Given the description of an element on the screen output the (x, y) to click on. 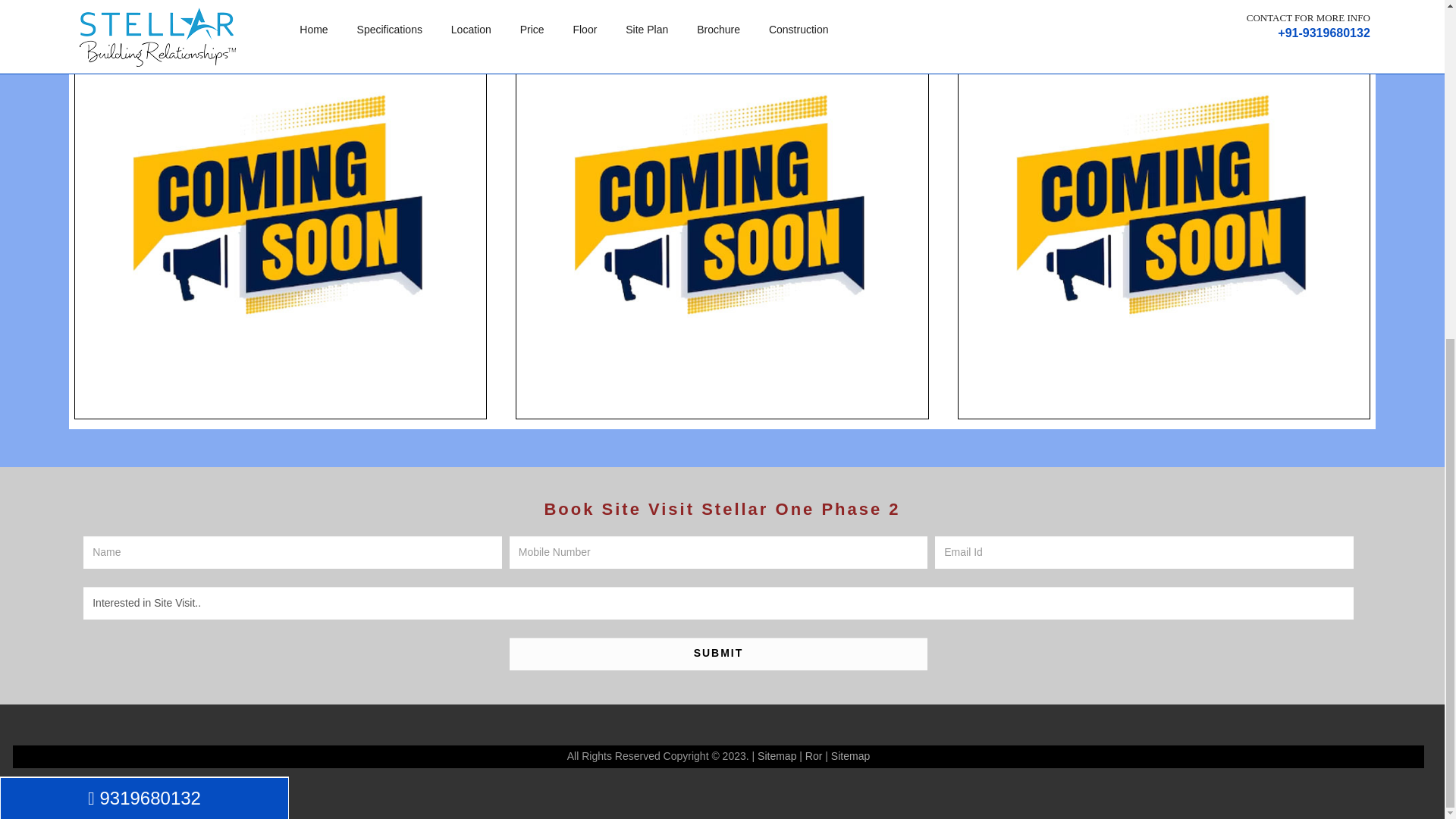
9319680132 (144, 226)
Sitemap (776, 756)
Ror (813, 756)
Sitemap (850, 756)
SUBMIT (718, 653)
Interested in Site Visit.. (718, 602)
SUBMIT (718, 653)
